Given the description of an element on the screen output the (x, y) to click on. 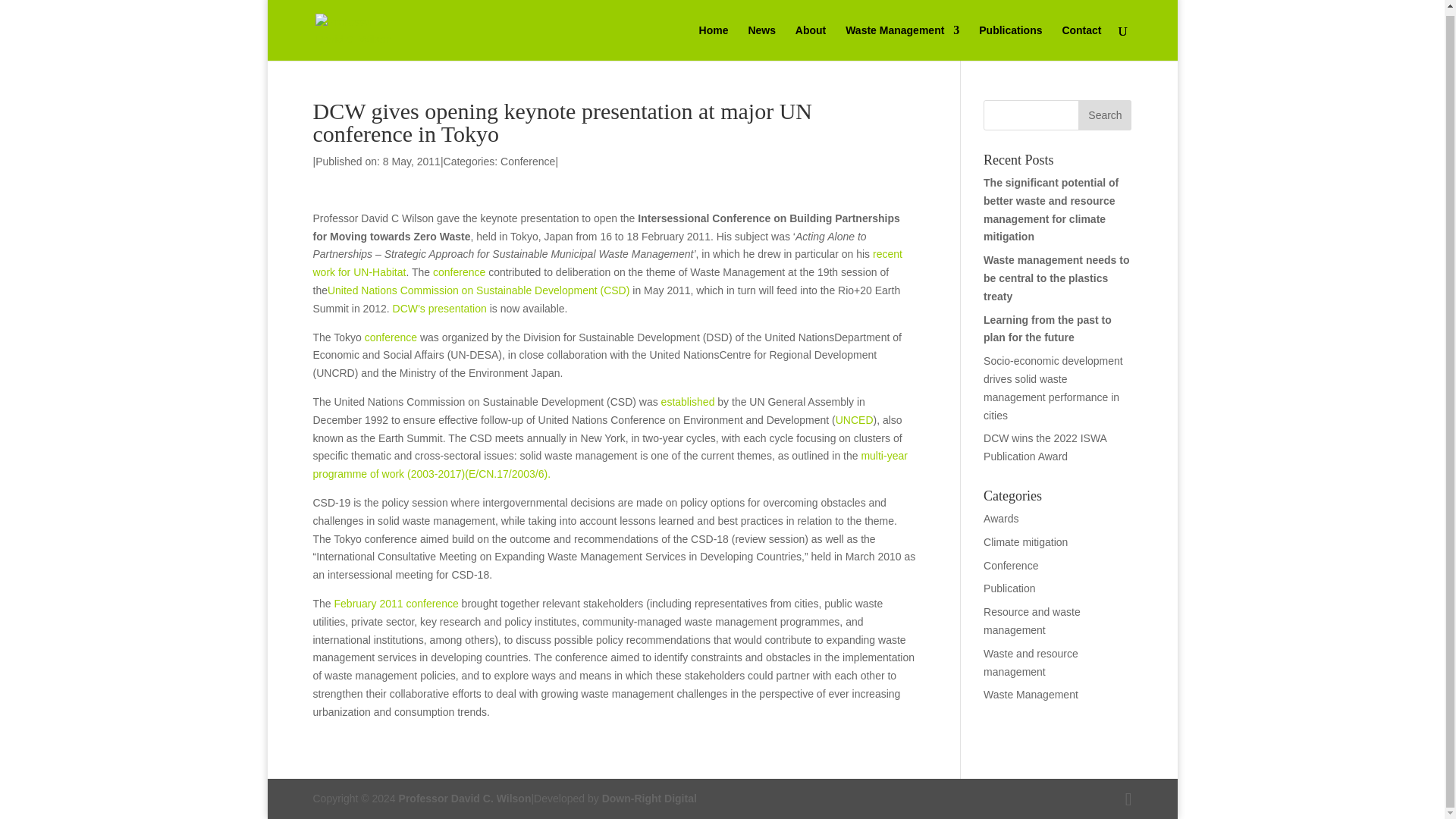
Learning from the past to plan for the future (1048, 328)
Resource and waste management (1032, 621)
Down-Right Digital (649, 798)
Professor David C. Wilson (464, 798)
conference (458, 272)
conference (390, 337)
Climate mitigation (1025, 541)
Search (1104, 114)
February 2011 conference (396, 603)
CSD conference (458, 272)
